Given the description of an element on the screen output the (x, y) to click on. 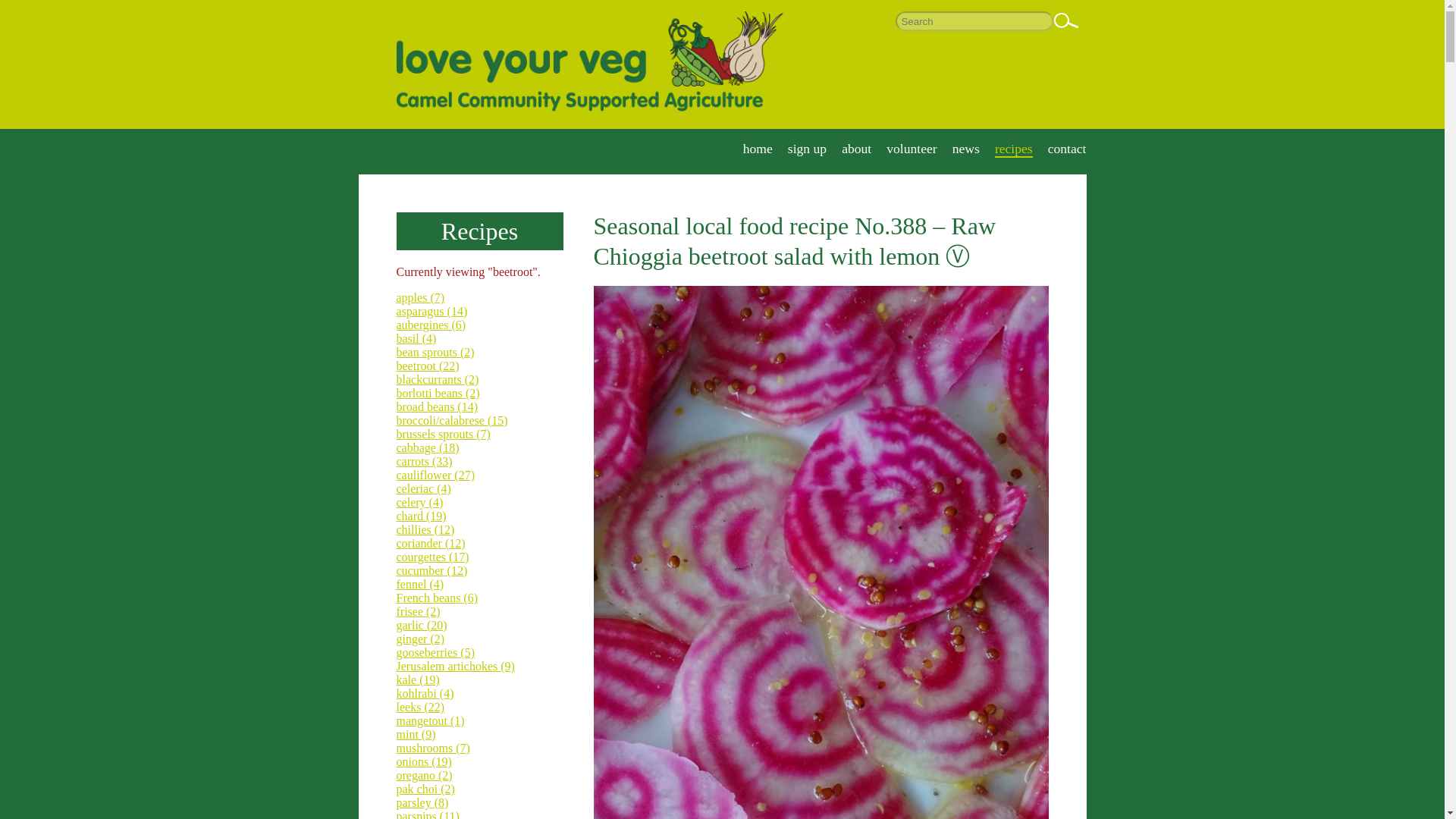
beetroot (427, 365)
celeriac (422, 488)
volunteer (911, 148)
broad beans (436, 406)
brussels sprouts (442, 433)
celery (419, 502)
chard (420, 515)
cauliflower (435, 474)
sign up (807, 148)
apples (420, 297)
